Given the description of an element on the screen output the (x, y) to click on. 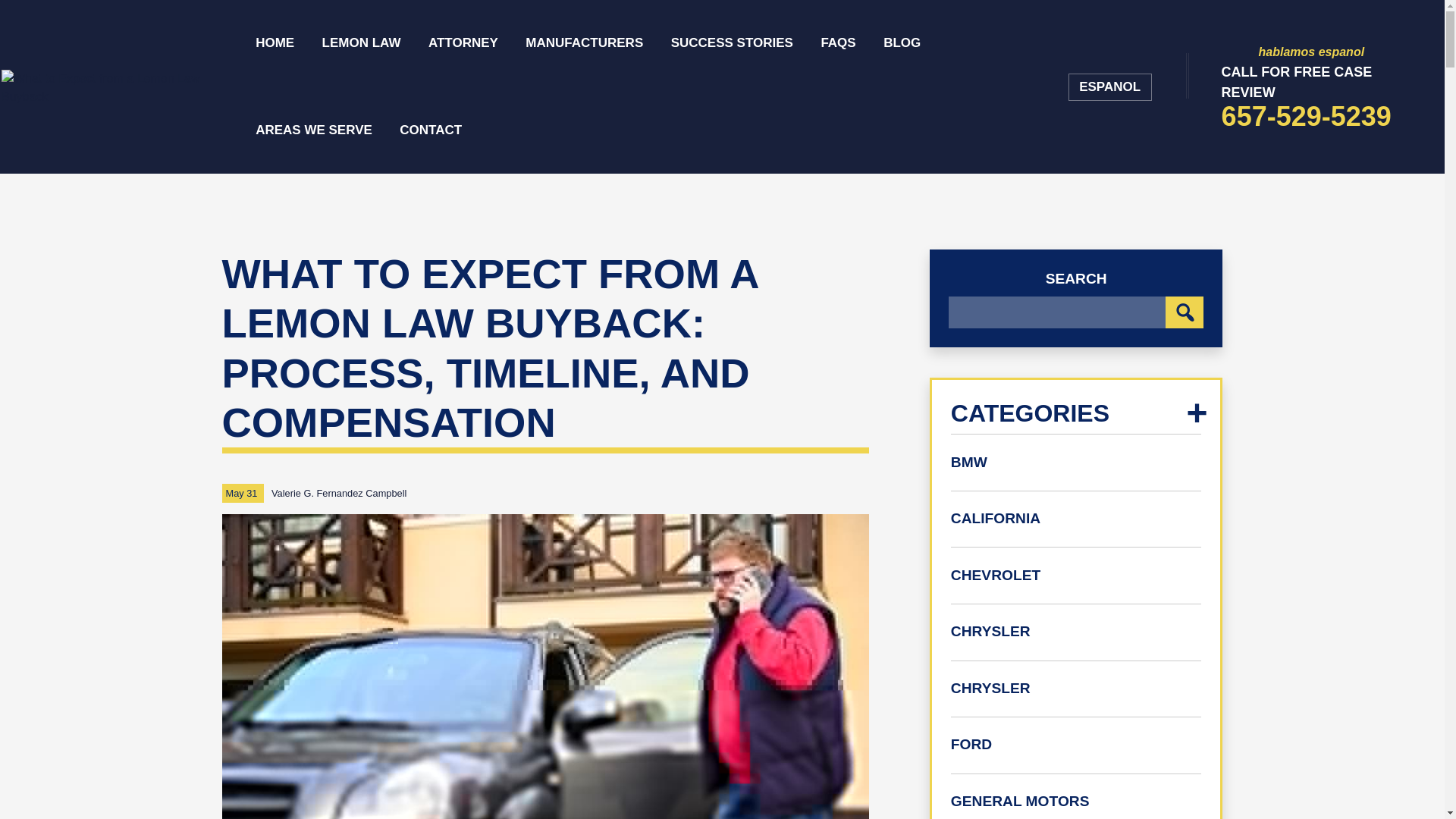
LEMON LAW (361, 43)
SUCCESS STORIES (732, 43)
AREAS WE SERVE (314, 129)
MANUFACTURERS (584, 43)
ESPANOL (1310, 86)
